Given the description of an element on the screen output the (x, y) to click on. 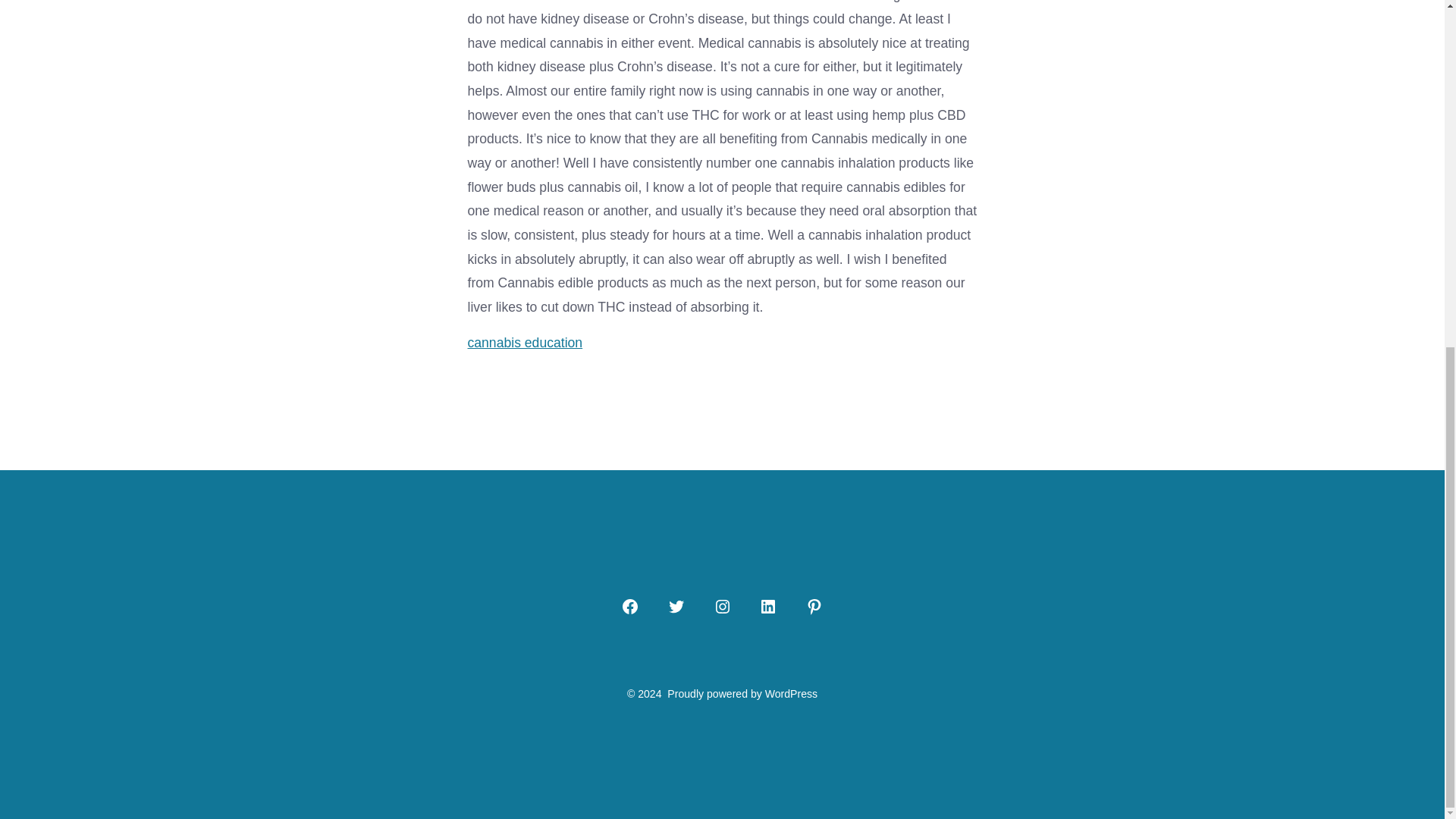
Open LinkedIn in a new tab (767, 606)
Open Pinterest in a new tab (814, 606)
cannabis education (524, 342)
Open Facebook in a new tab (629, 606)
Open Instagram in a new tab (721, 606)
Open Twitter in a new tab (676, 606)
